Given the description of an element on the screen output the (x, y) to click on. 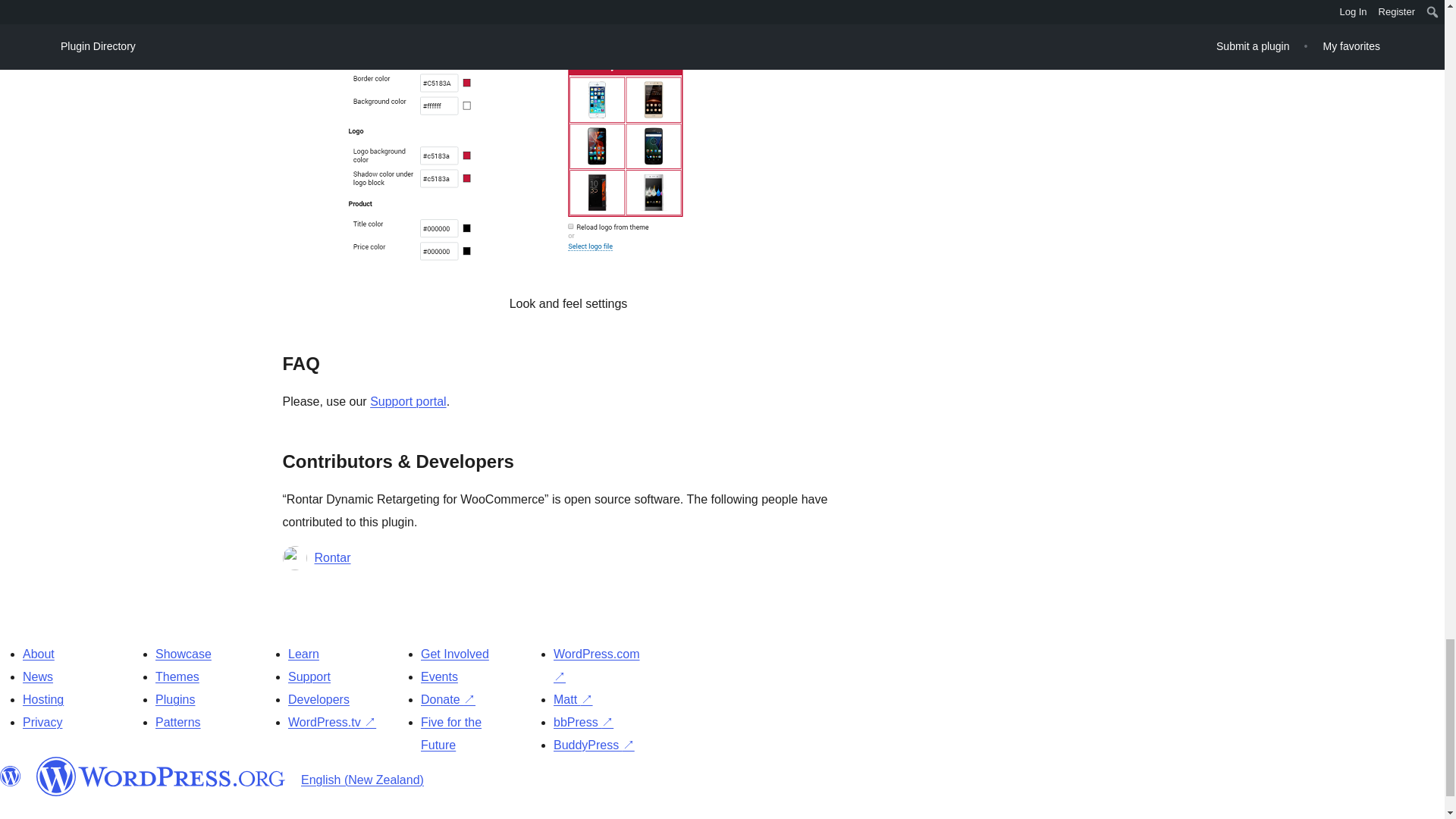
Support portal (407, 400)
WordPress.org (160, 776)
Rontar (332, 558)
WordPress.org (10, 776)
